Given the description of an element on the screen output the (x, y) to click on. 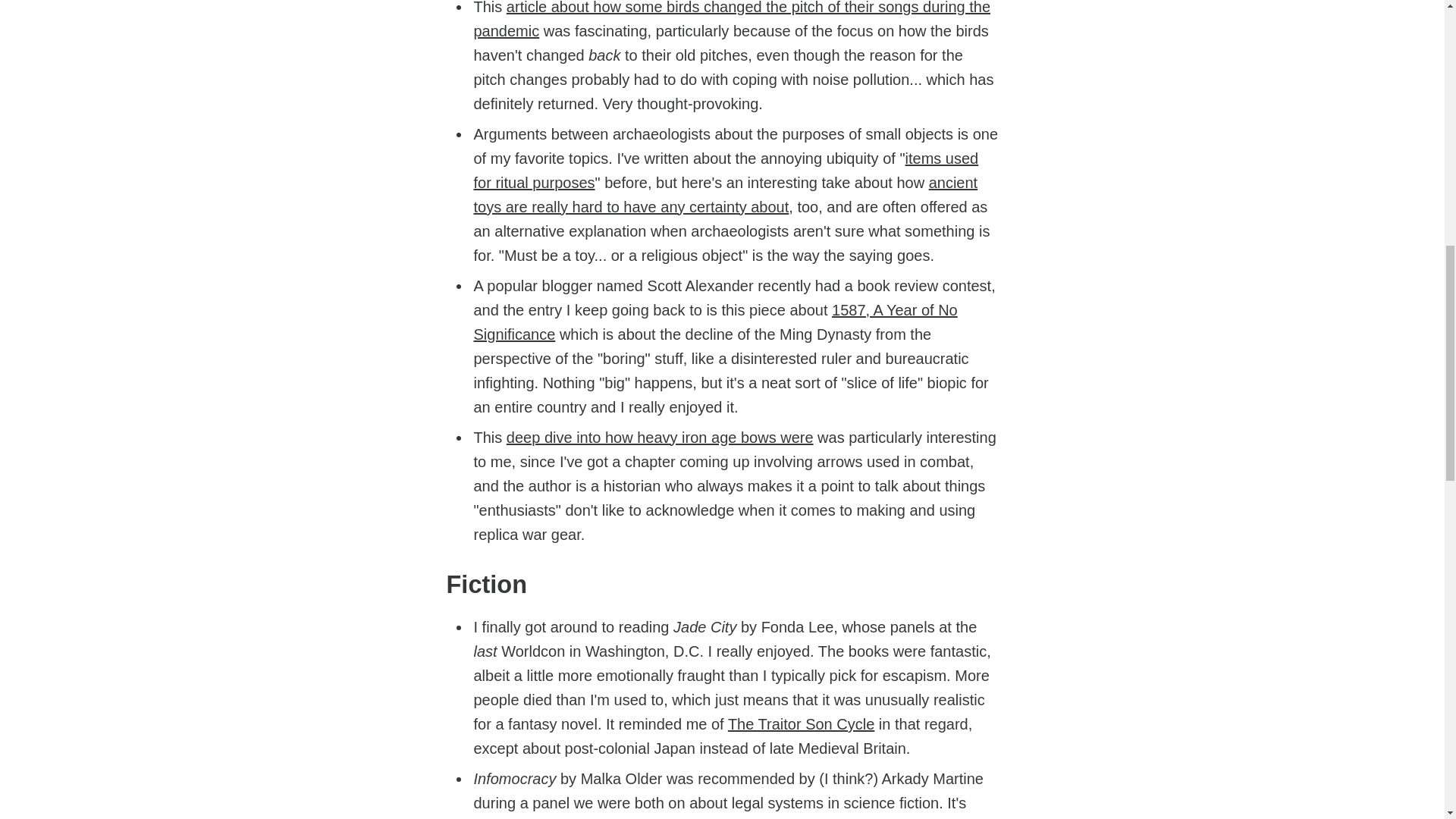
items used for ritual purposes (725, 169)
1587, A Year of No Significance (714, 322)
ancient toys are really hard to have any certainty about (724, 194)
The Traitor Son Cycle (801, 723)
deep dive into how heavy iron age bows were (659, 437)
